Given the description of an element on the screen output the (x, y) to click on. 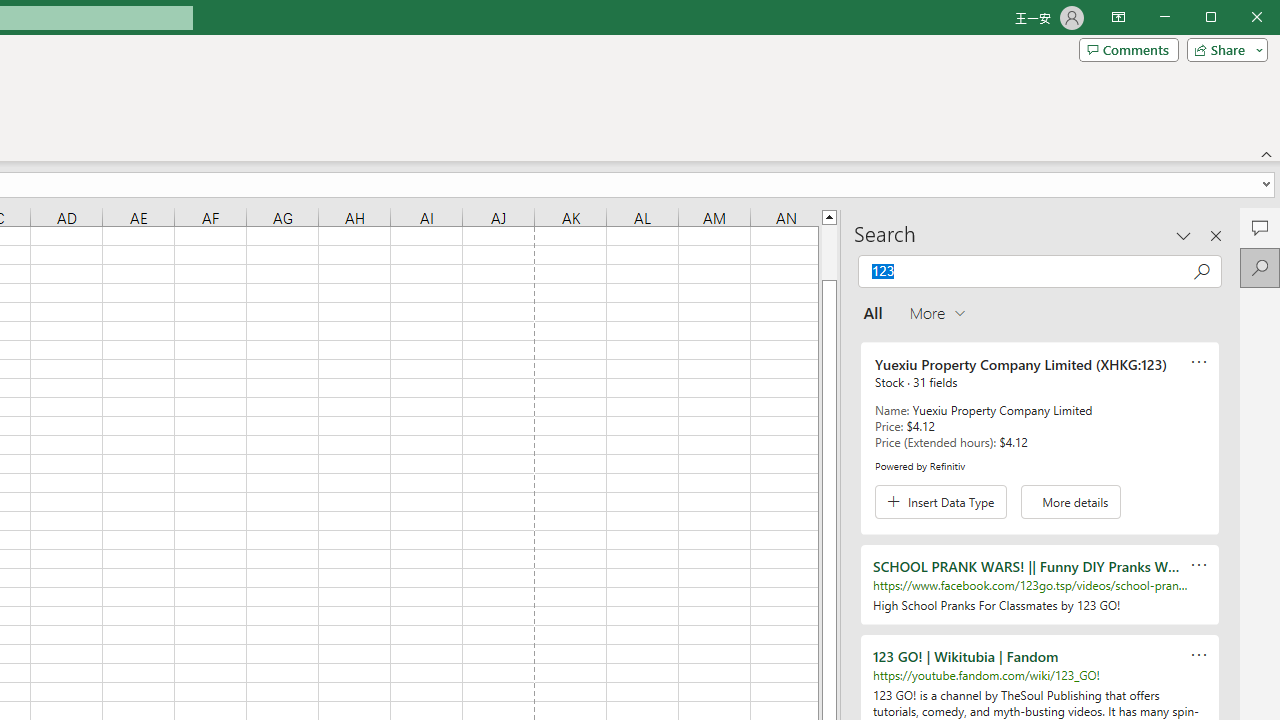
Page up (829, 252)
Maximize (1239, 18)
